Given the description of an element on the screen output the (x, y) to click on. 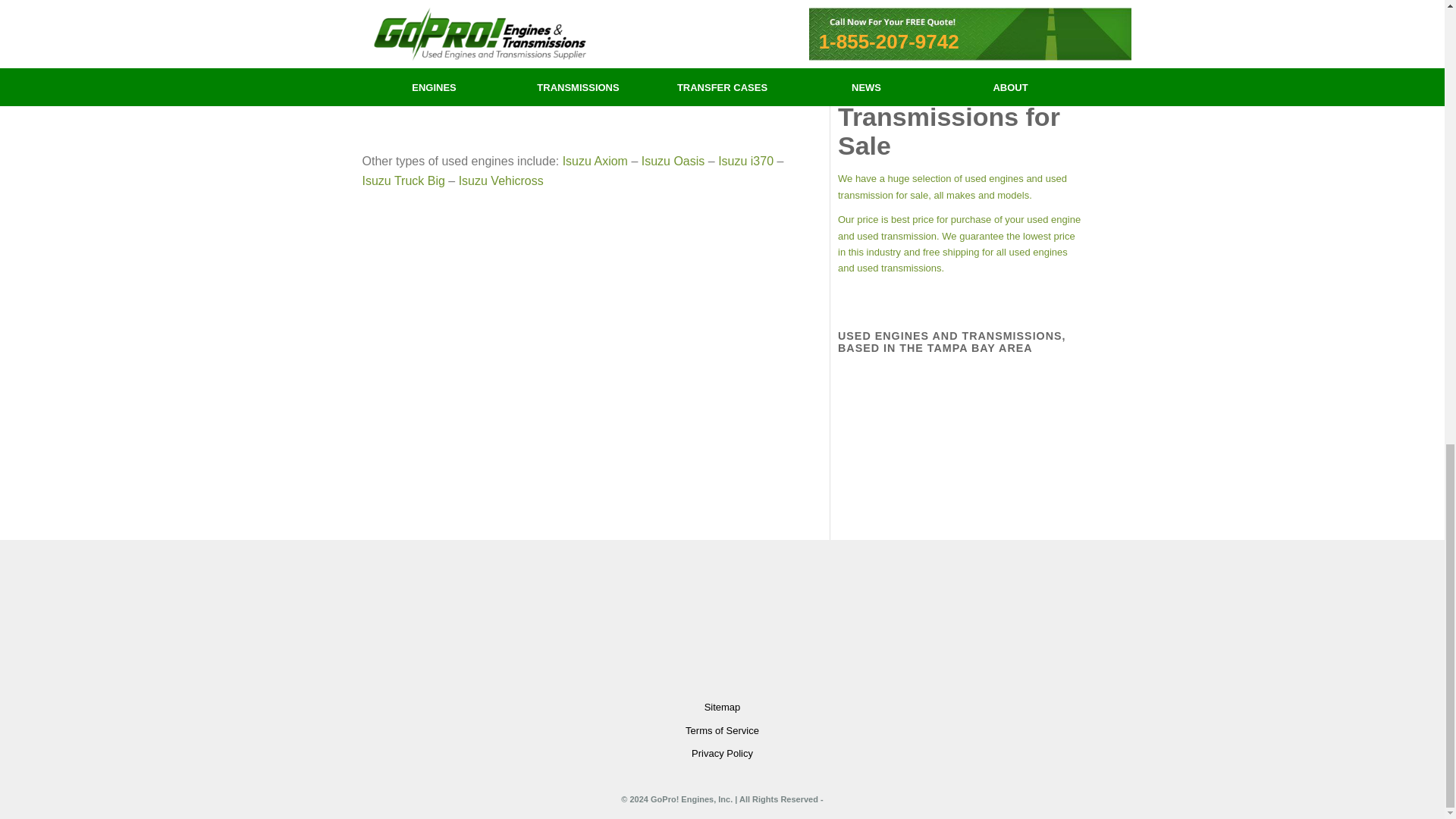
Sitemap (722, 707)
Isuzu Truck Big (403, 180)
Isuzu Vehicross (500, 180)
Terms of Service (722, 730)
Privacy Policy (722, 753)
Isuzu Axiom (594, 160)
Isuzu Oasis (673, 160)
Isuzu i370 (745, 160)
